Given the description of an element on the screen output the (x, y) to click on. 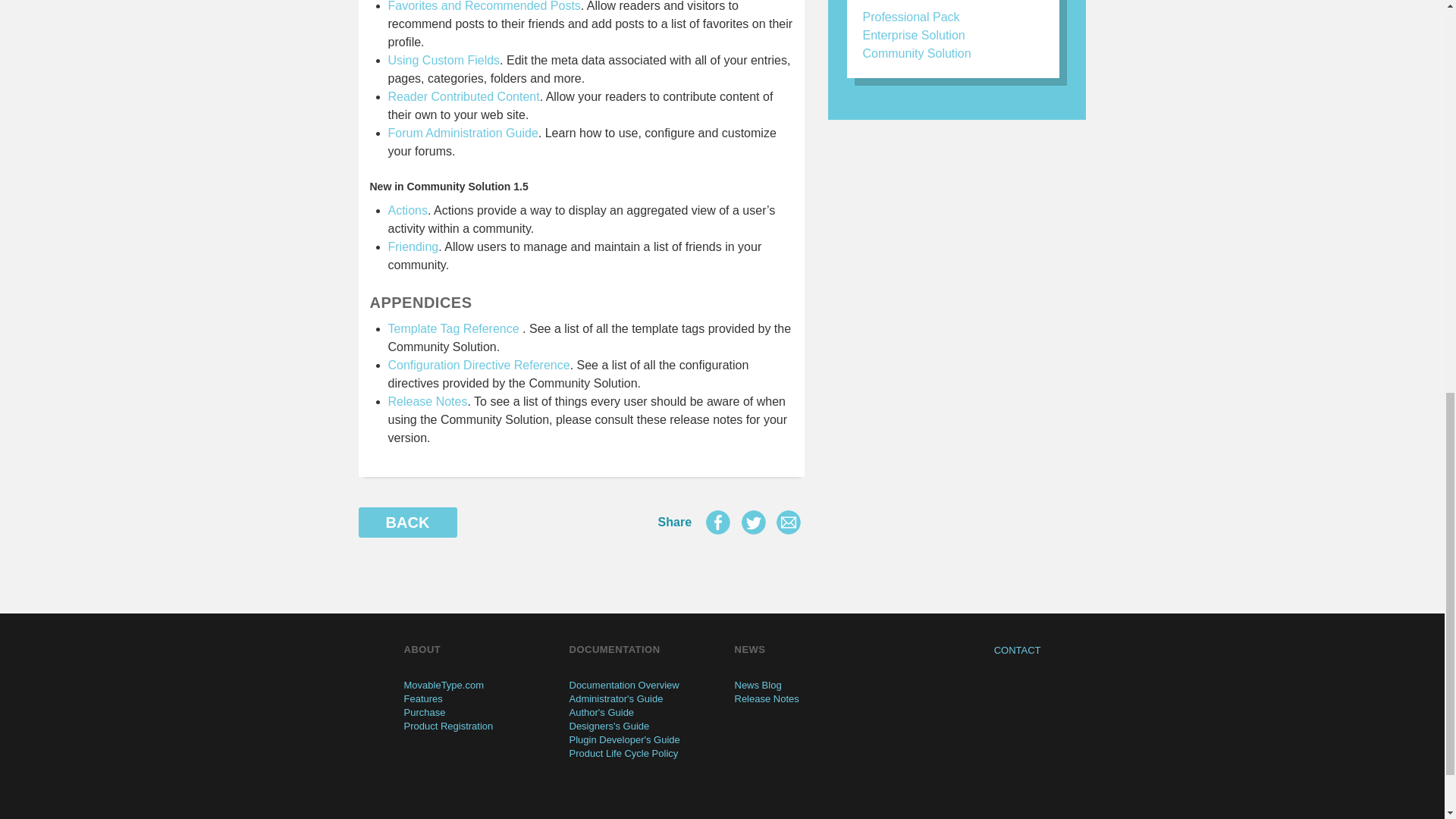
Forum Administration Guide (463, 132)
Template Tag Reference (453, 328)
Reader Contributed Content (464, 96)
Actions (408, 210)
Configuration Directive Reference (479, 364)
Release Notes (427, 400)
Favorites and Recommended Posts (484, 6)
BACK (407, 521)
Friending (413, 246)
Using Custom Fields (444, 60)
